Given the description of an element on the screen output the (x, y) to click on. 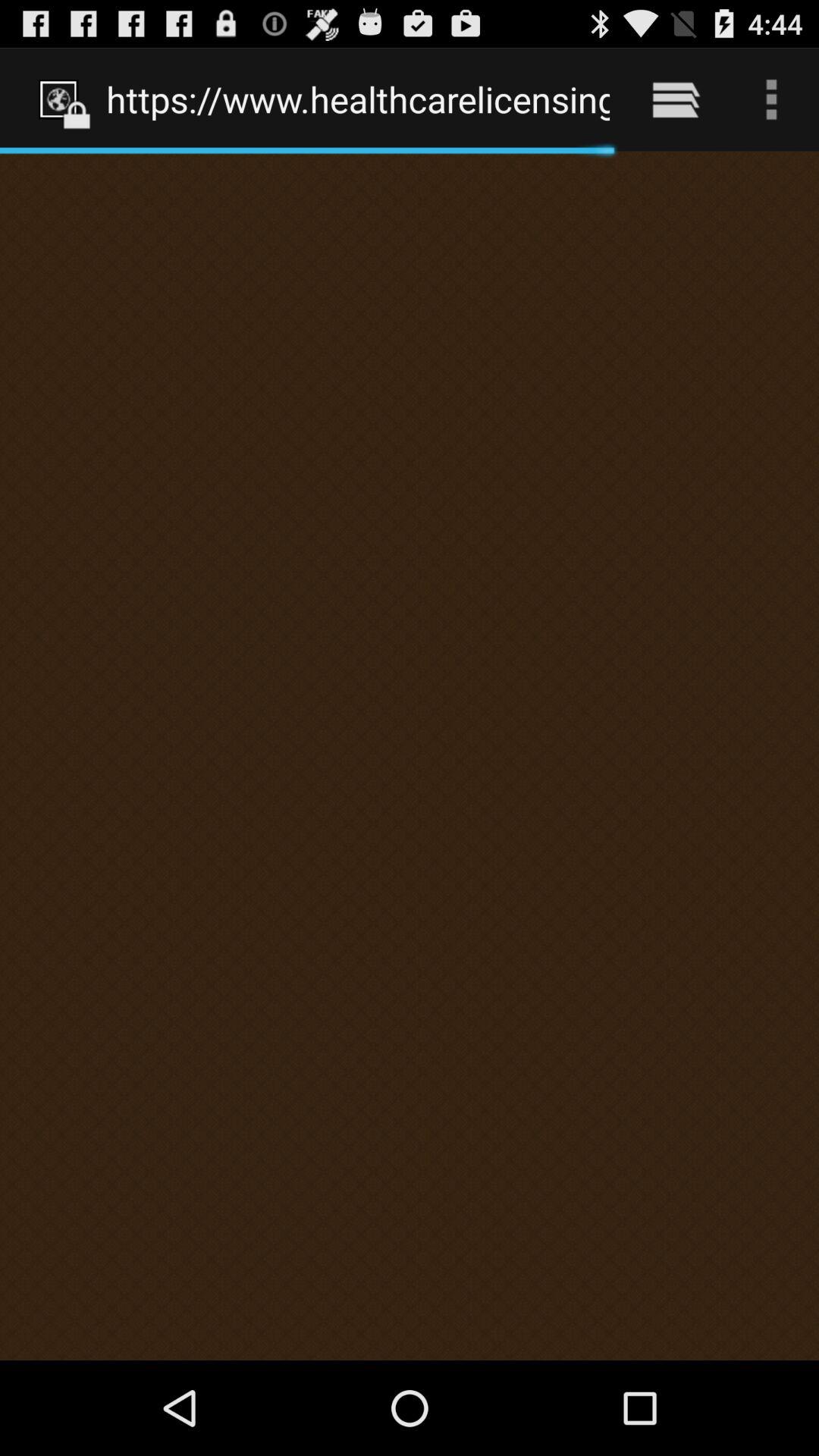
choose icon to the right of https www healthcarelicensing (675, 99)
